Given the description of an element on the screen output the (x, y) to click on. 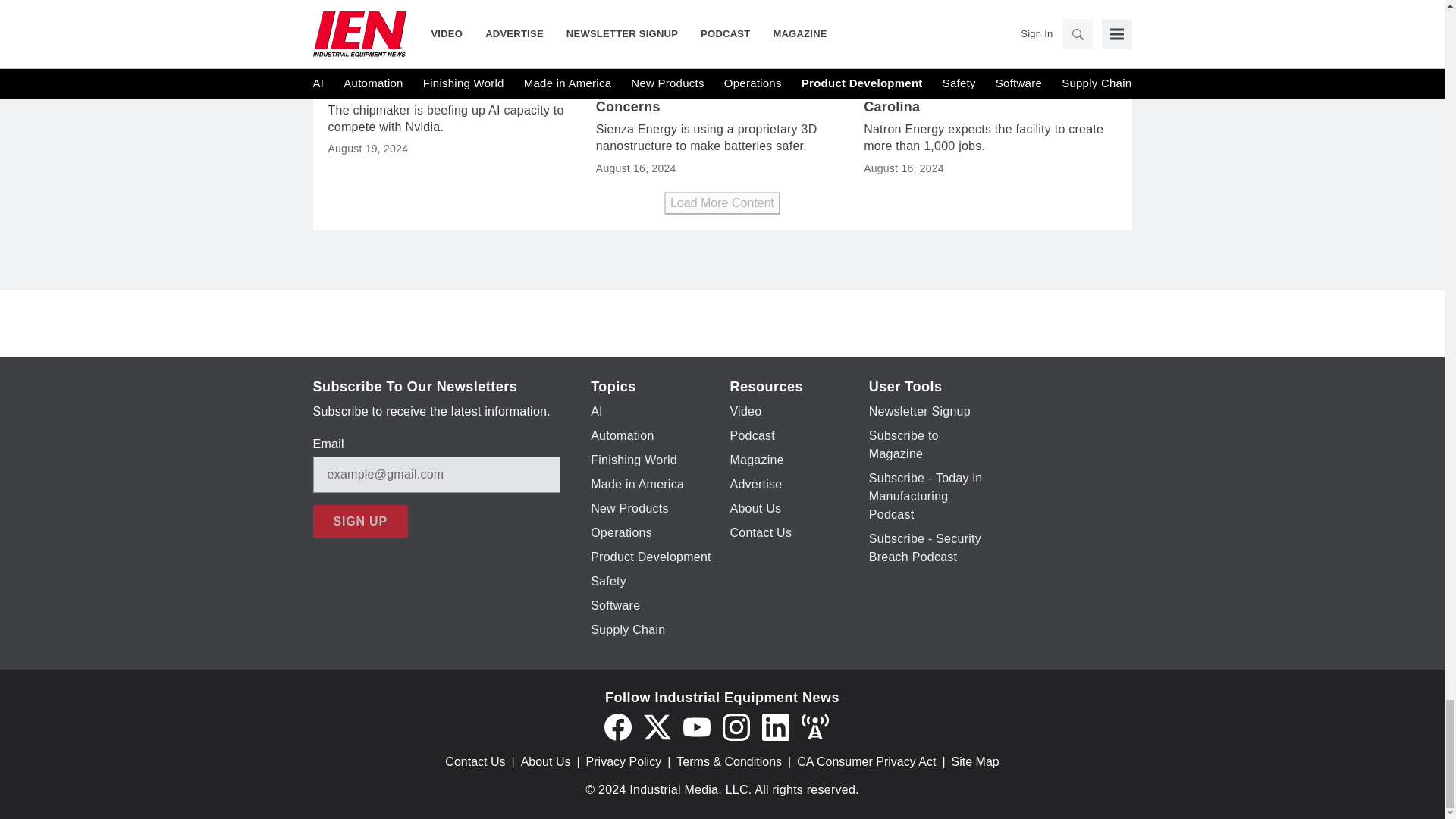
Twitter X icon (656, 727)
Facebook icon (617, 727)
YouTube icon (696, 727)
LinkedIn icon (775, 727)
Instagram icon (735, 727)
